Given the description of an element on the screen output the (x, y) to click on. 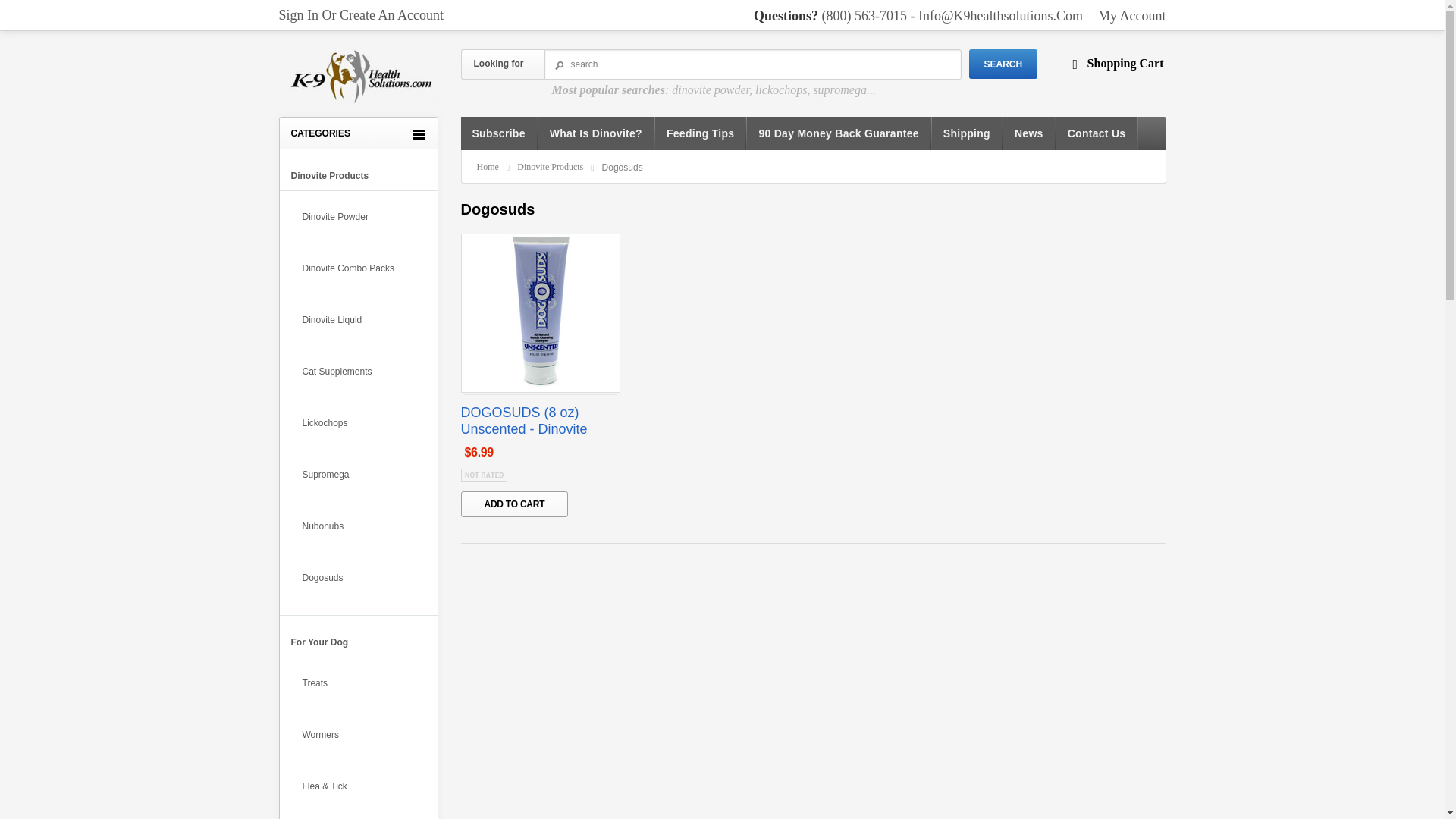
Search (752, 64)
Search (1003, 63)
View Cart (1126, 62)
Add To Cart (515, 503)
Search (1003, 63)
